Given the description of an element on the screen output the (x, y) to click on. 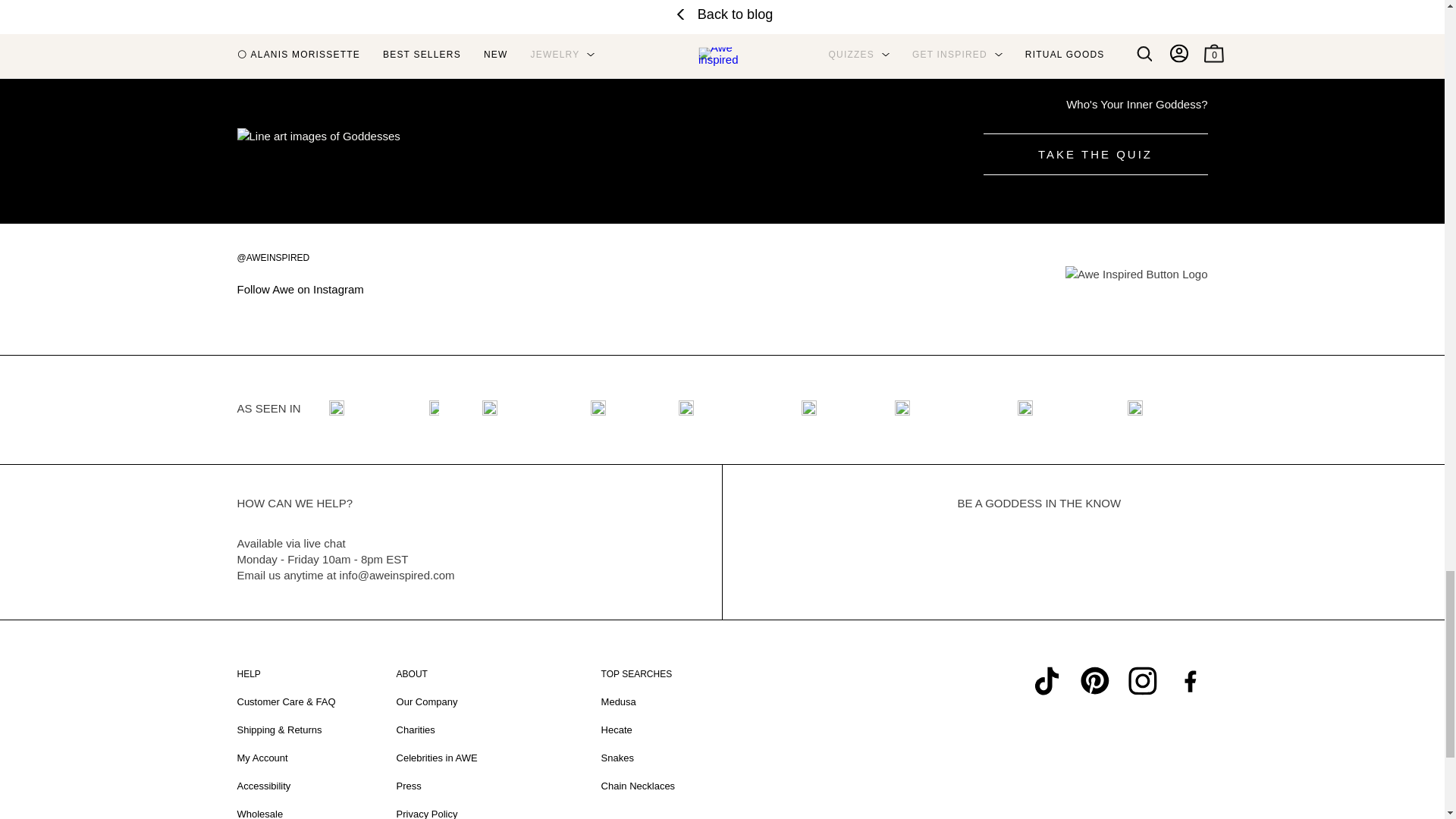
Back to blog (722, 13)
